Given the description of an element on the screen output the (x, y) to click on. 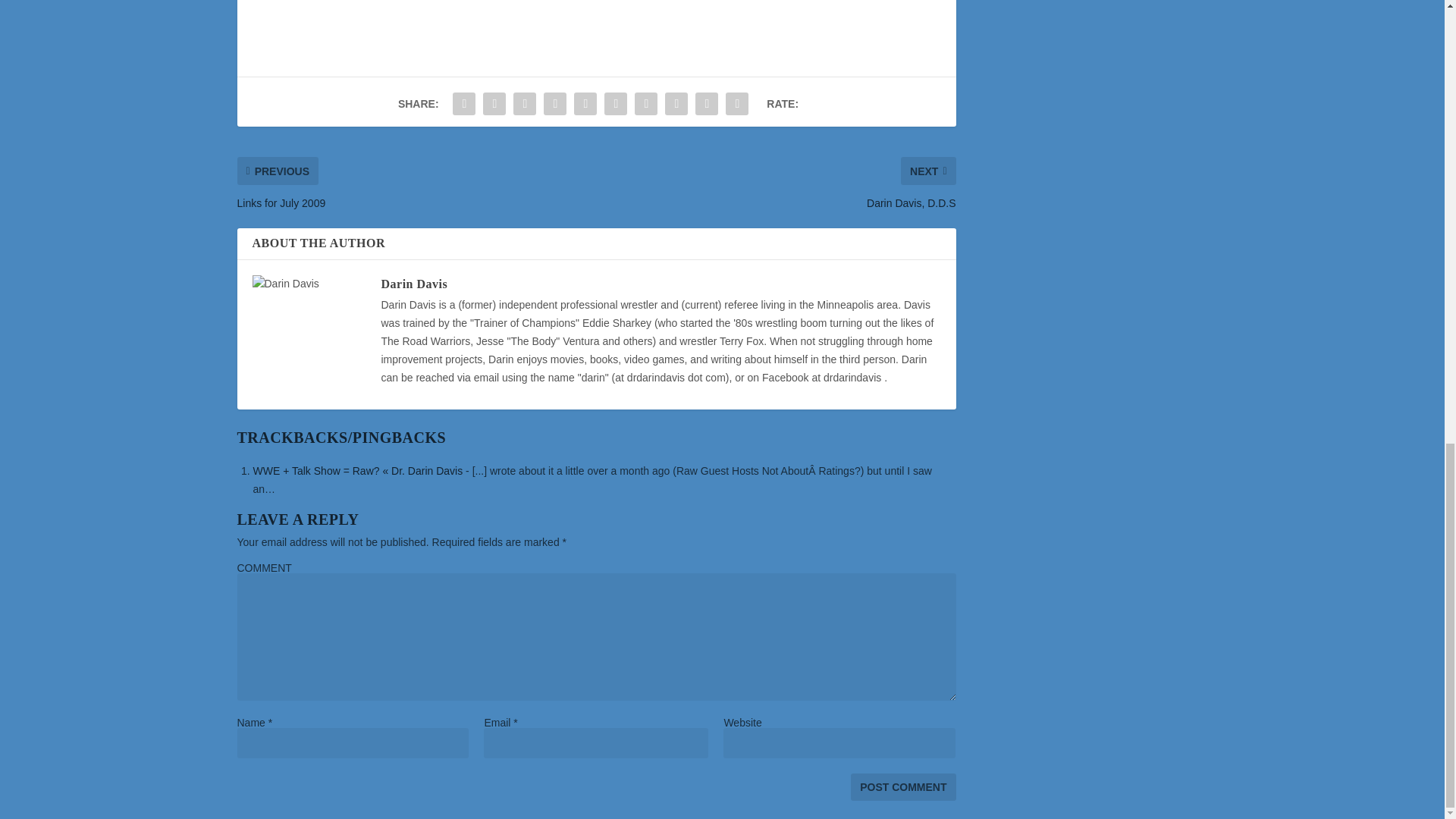
Post Comment (902, 786)
Share "Raw Guest Hosts Not About Ratings?" via Pinterest (584, 103)
Share "Raw Guest Hosts Not About Ratings?" via Twitter (494, 103)
Share "Raw Guest Hosts Not About Ratings?" via LinkedIn (614, 103)
Darin Davis (413, 283)
Share "Raw Guest Hosts Not About Ratings?" via Facebook (463, 103)
Post Comment (902, 786)
Share "Raw Guest Hosts Not About Ratings?" via Tumblr (555, 103)
